Given the description of an element on the screen output the (x, y) to click on. 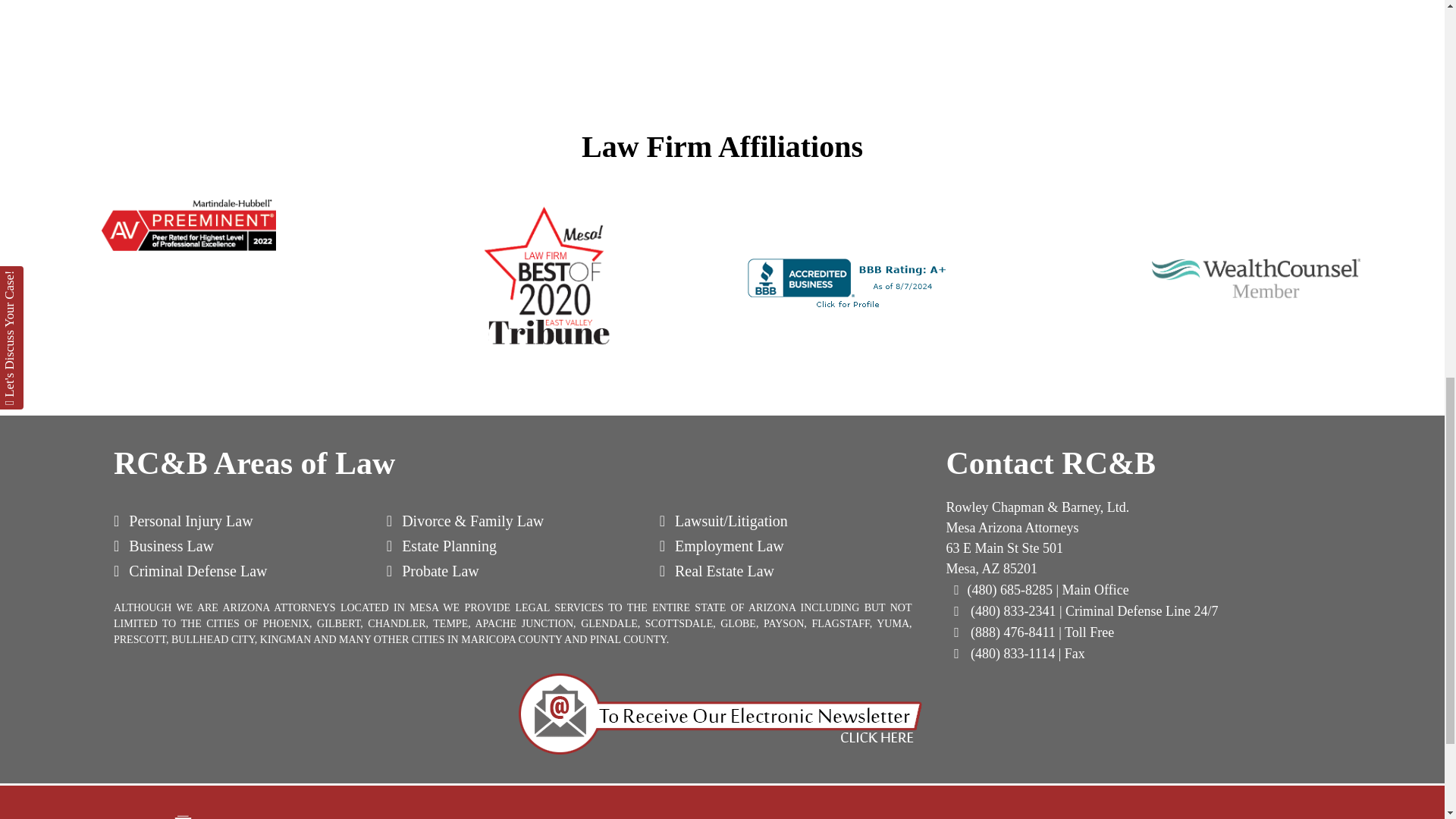
Real Estate Law (716, 570)
Personal Injury Law (183, 520)
Employment Law (721, 545)
2020-best-law-firm (545, 274)
law-firm-wealth-counsel (1255, 274)
Estate Planning (441, 545)
FIRM-AV-2022 (188, 224)
Business Law (163, 545)
Probate Law (433, 570)
Rowley-Chapman-Barney-LTD-logo-trasparent-white (239, 815)
